Given the description of an element on the screen output the (x, y) to click on. 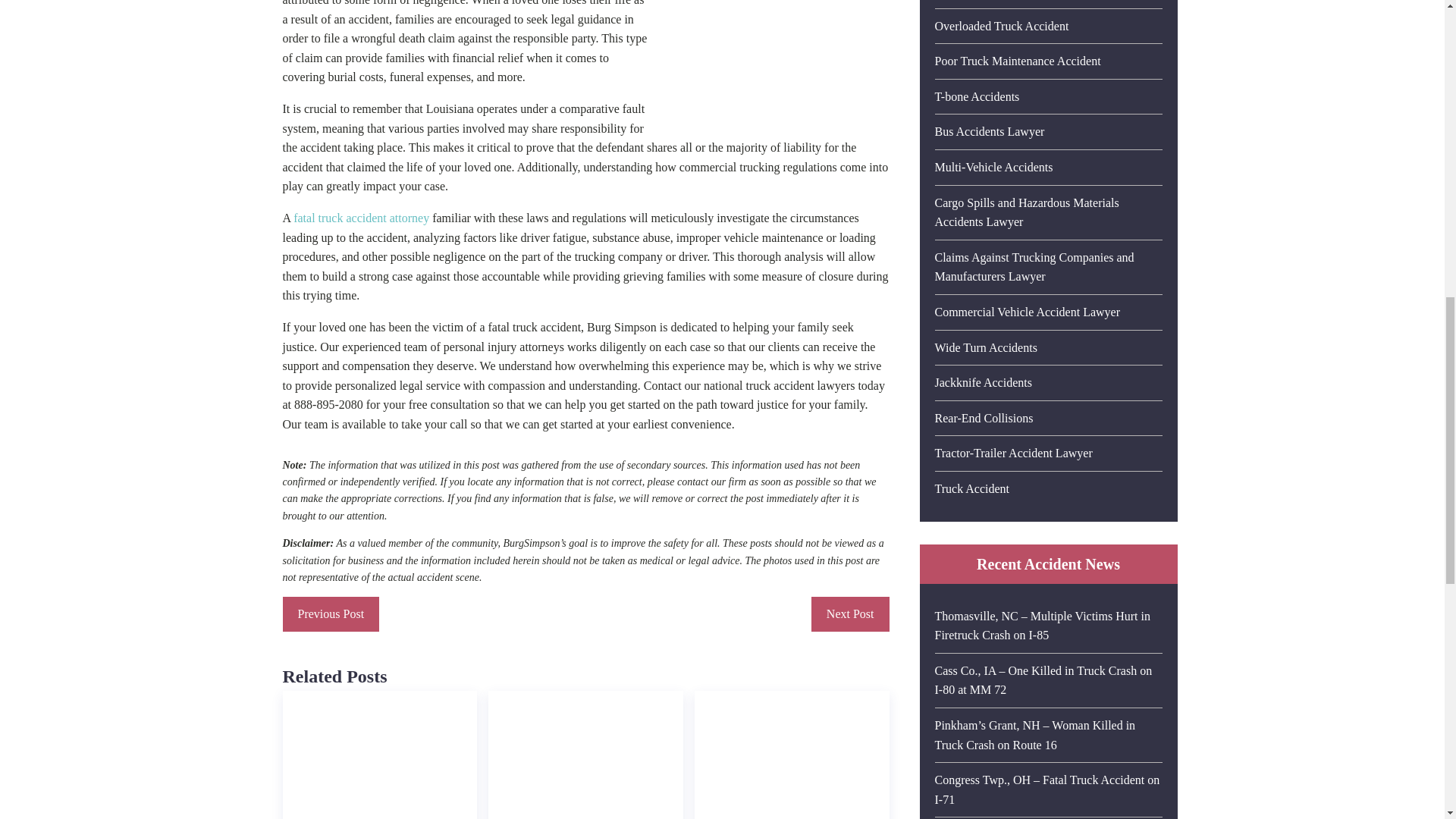
fatal truck accident attorney (361, 217)
Previous Post (330, 614)
Next Post (849, 614)
